Given the description of an element on the screen output the (x, y) to click on. 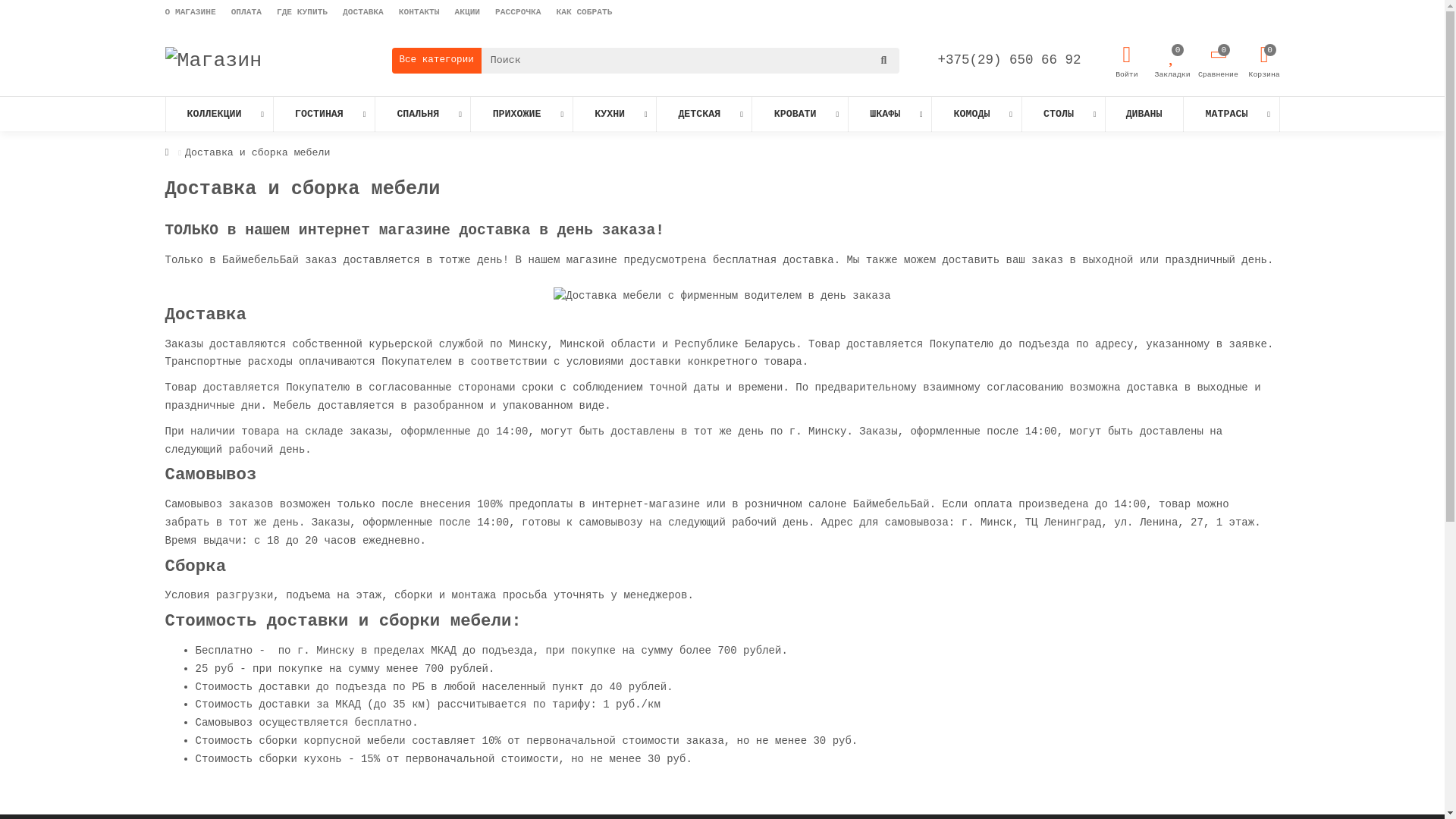
0 Element type: text (1264, 54)
+375(29) 650 66 92 Element type: text (1008, 59)
